Given the description of an element on the screen output the (x, y) to click on. 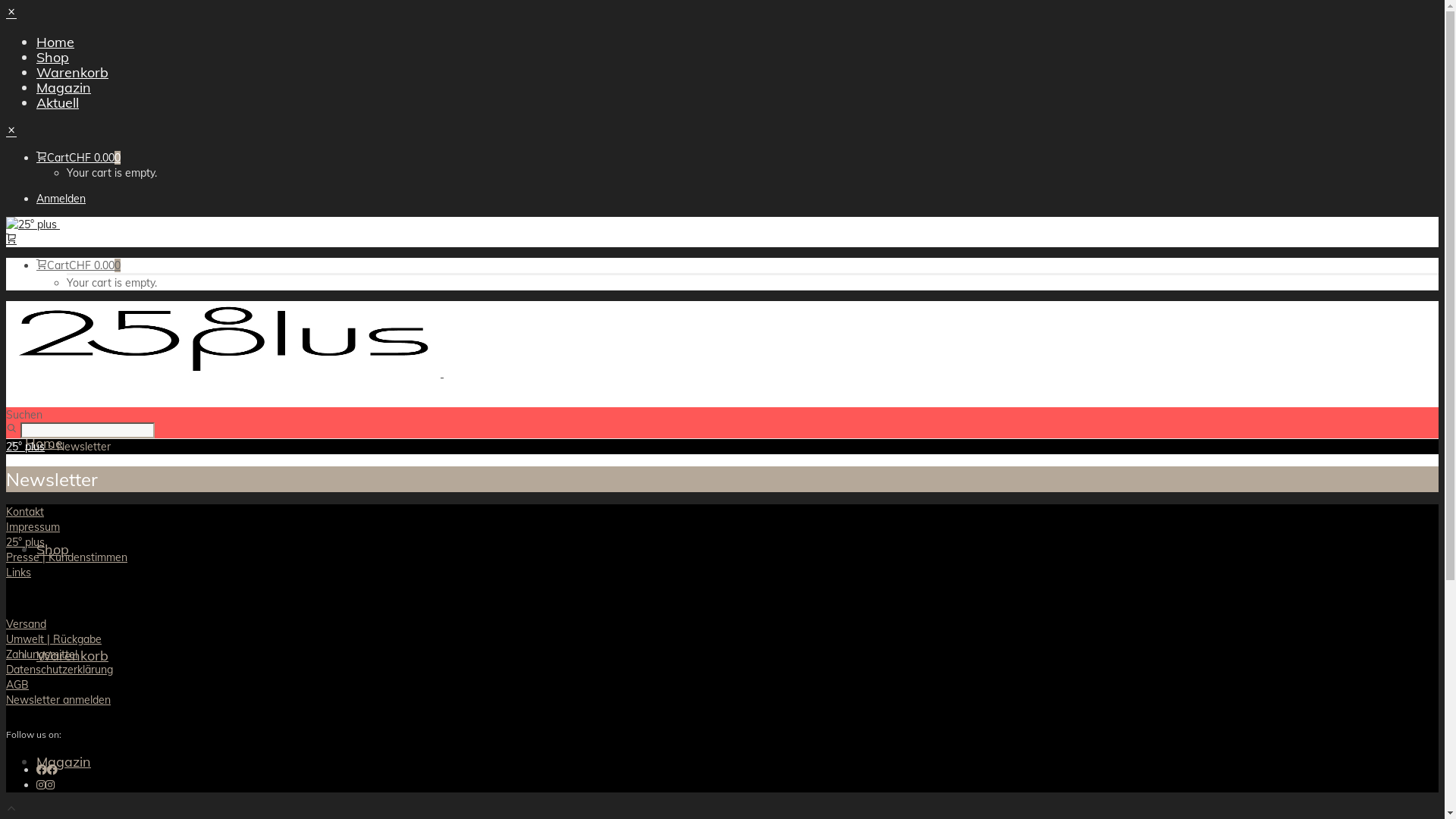
Home Element type: text (43, 442)
Newsletter anmelden Element type: text (58, 699)
Home Element type: text (55, 41)
Aktuell Element type: text (57, 102)
Magazin Element type: text (63, 761)
CartCHF 0.000 Element type: text (78, 157)
Zahlungsmittel Element type: text (41, 654)
AGB Element type: text (17, 684)
Presse | Kundenstimmen Element type: text (66, 557)
Shop Element type: text (52, 56)
Kontakt Element type: text (24, 511)
Links Element type: text (18, 572)
CartCHF 0.000 Element type: text (78, 265)
Magazin Element type: text (63, 87)
Warenkorb Element type: text (72, 72)
Shop Element type: text (52, 549)
Versand Element type: text (26, 623)
Anmelden Element type: text (60, 198)
Impressum Element type: text (32, 526)
Warenkorb Element type: text (72, 655)
